Given the description of an element on the screen output the (x, y) to click on. 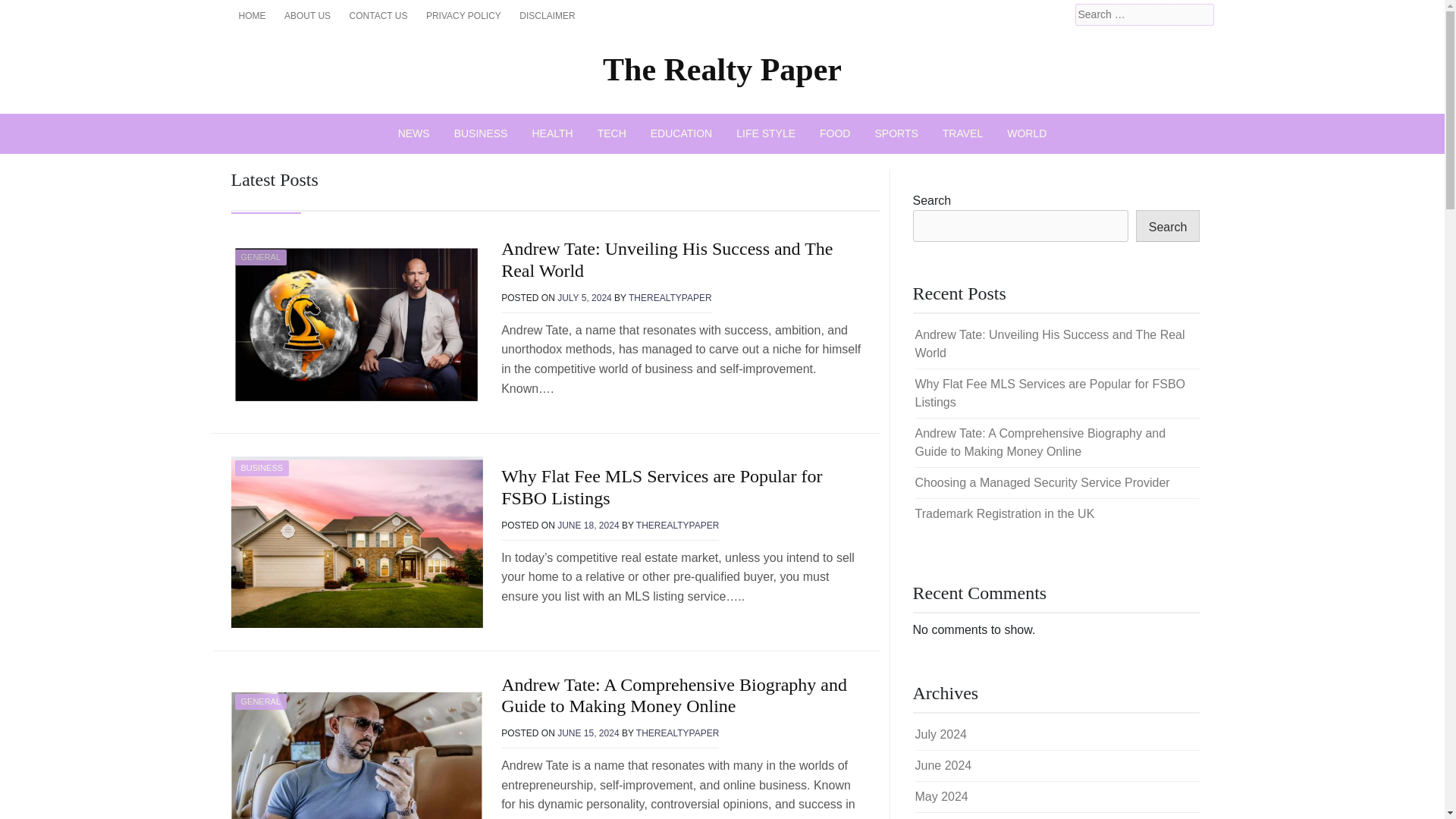
THEREALTYPAPER (677, 525)
EDUCATION (681, 133)
DISCLAIMER (547, 15)
JULY 5, 2024 (584, 297)
BUSINESS (261, 467)
FOOD (834, 133)
GENERAL (260, 256)
HOME (251, 15)
WORLD (1026, 133)
ABOUT US (306, 15)
